Given the description of an element on the screen output the (x, y) to click on. 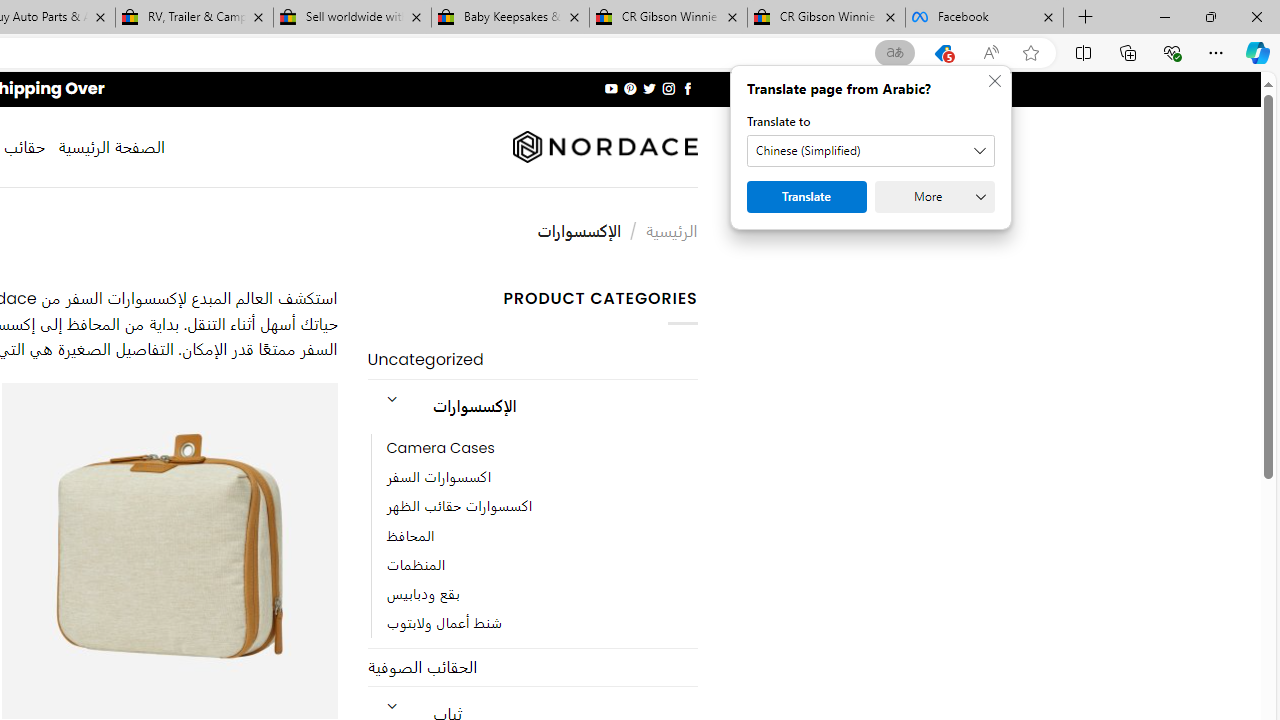
More (934, 196)
Camera Cases (541, 448)
Show translate options (895, 53)
Follow on Pinterest (630, 88)
Sell worldwide with eBay (352, 17)
Follow on Twitter (648, 88)
